Given the description of an element on the screen output the (x, y) to click on. 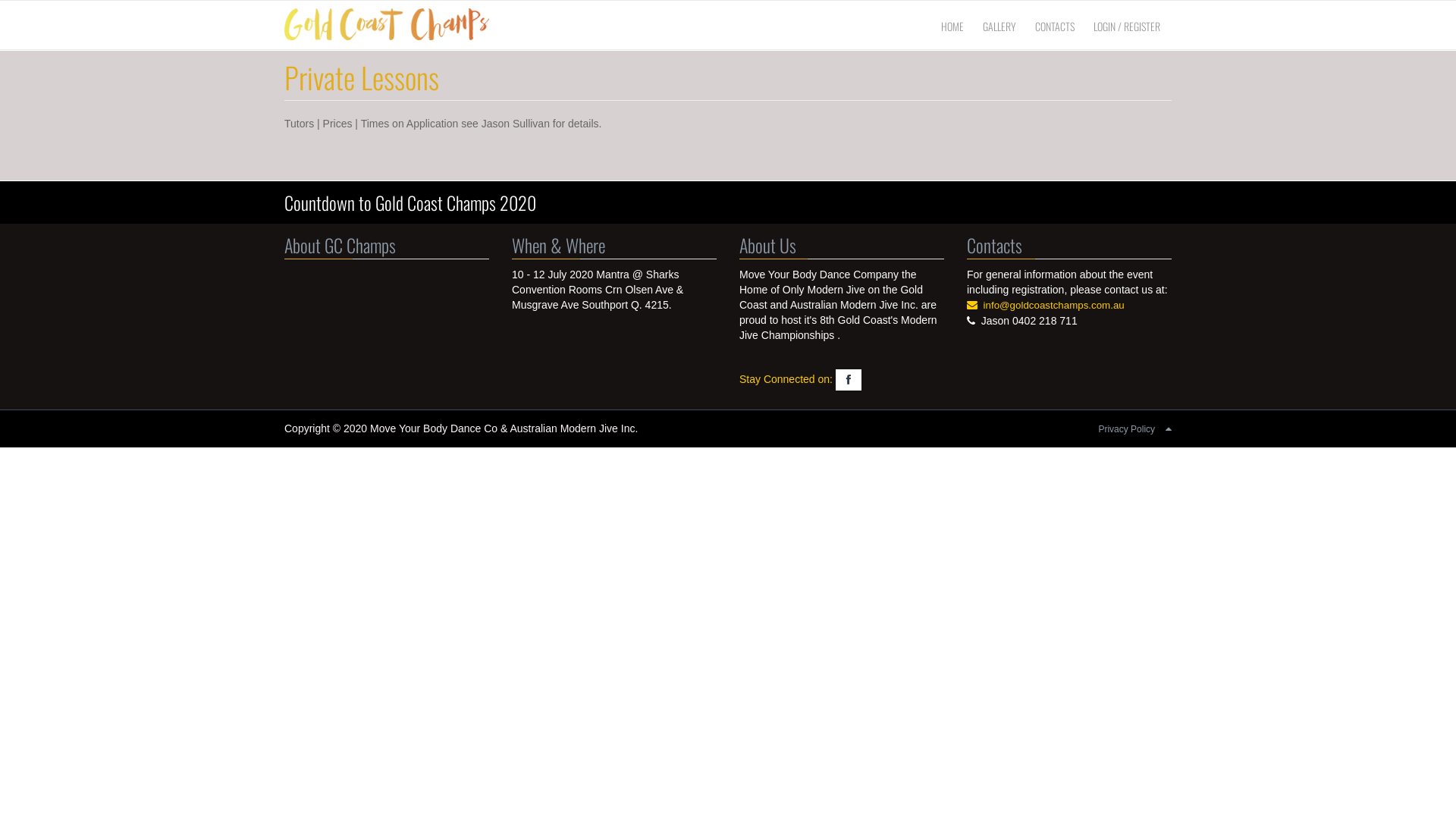
HOME Element type: text (952, 26)
info@goldcoastchamps.com.au Element type: text (1053, 304)
LOGIN / REGISTER Element type: text (1126, 26)
Goto Top Element type: hover (1168, 428)
CONTACTS Element type: text (1054, 26)
Privacy Policy Element type: text (1126, 428)
GALLERY Element type: text (999, 26)
Private Lessons Element type: text (361, 76)
